Given the description of an element on the screen output the (x, y) to click on. 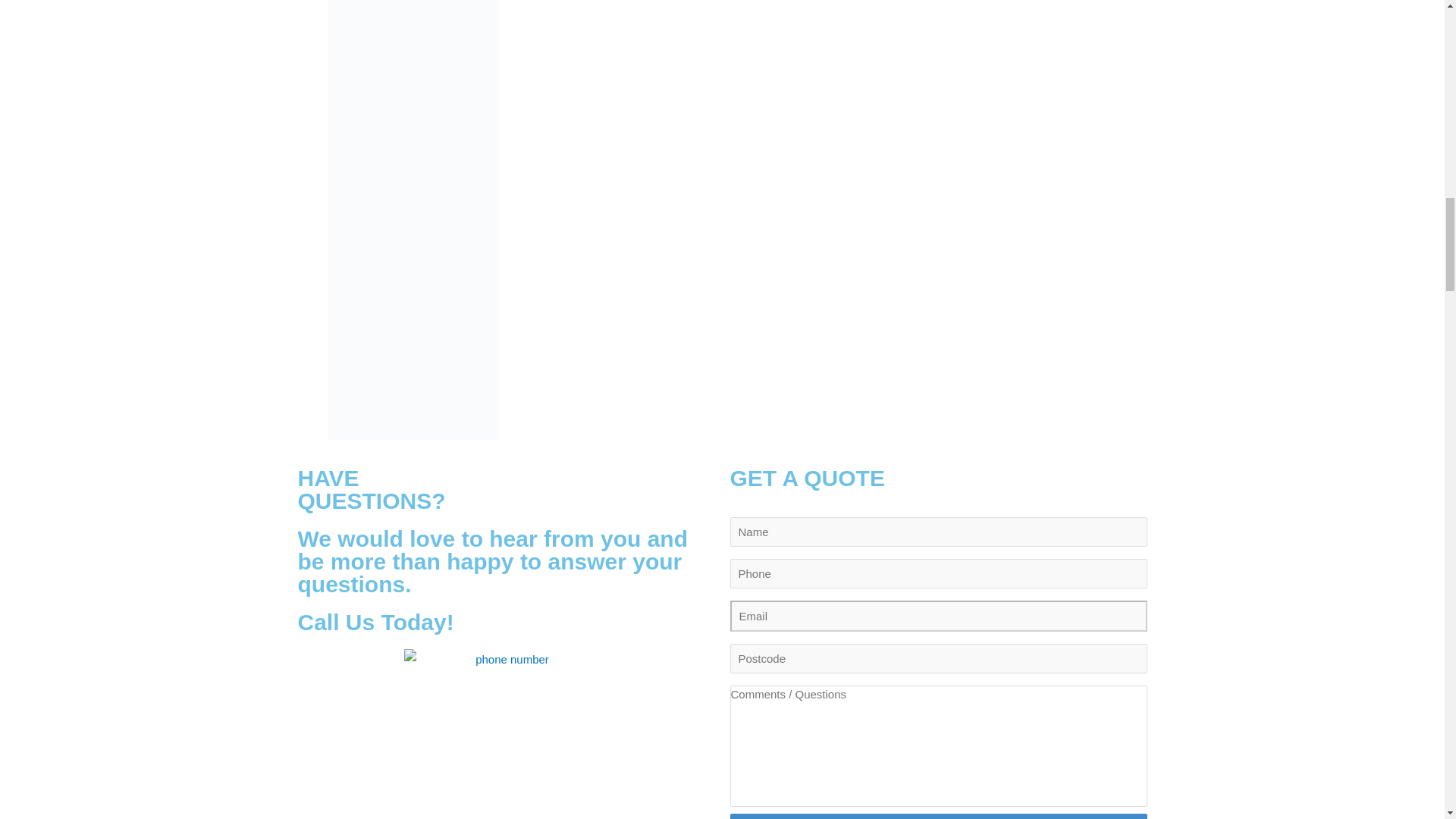
Submit (938, 816)
